Given the description of an element on the screen output the (x, y) to click on. 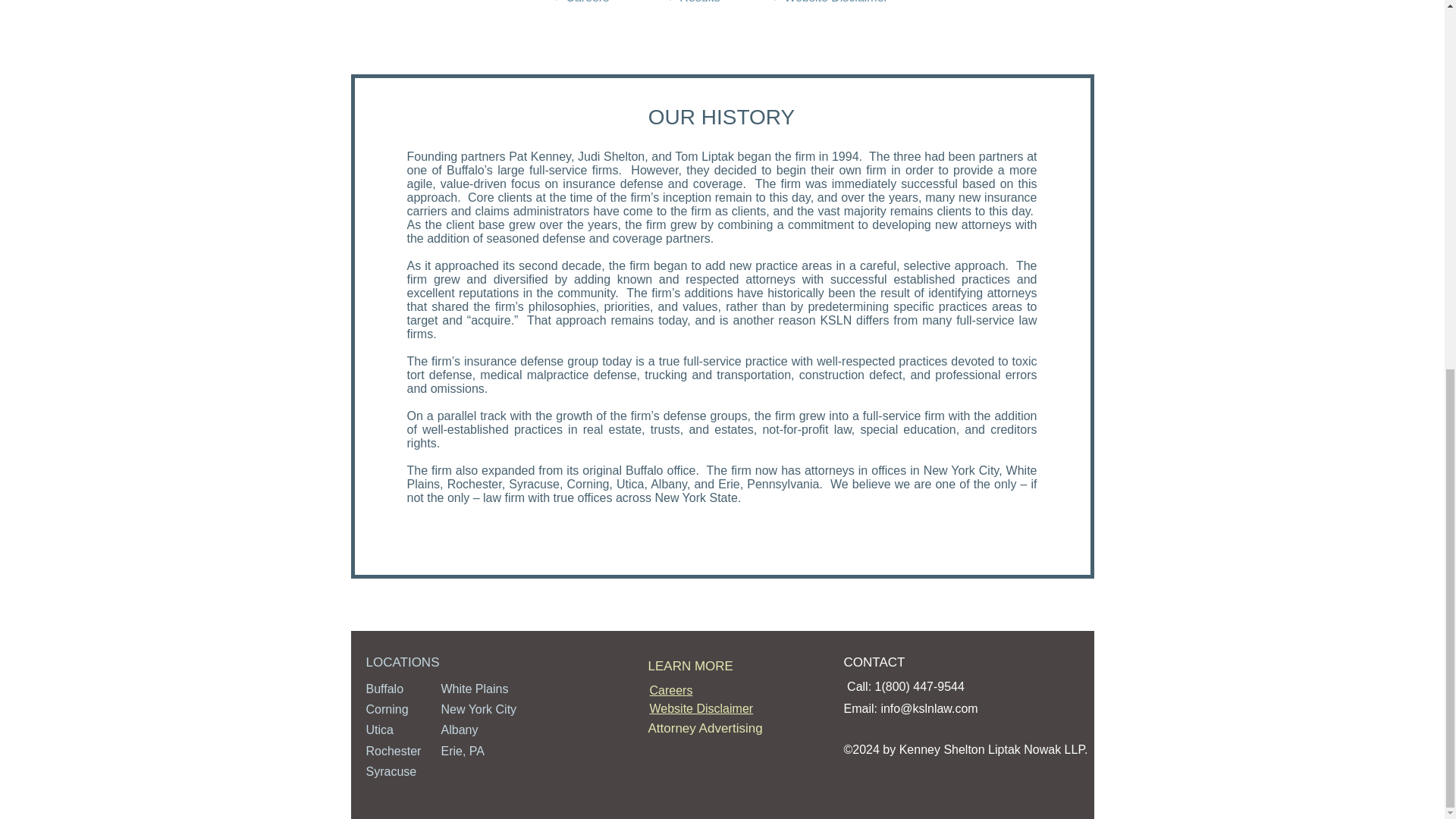
Careers (671, 689)
Website Disclaimer (700, 707)
